Given the description of an element on the screen output the (x, y) to click on. 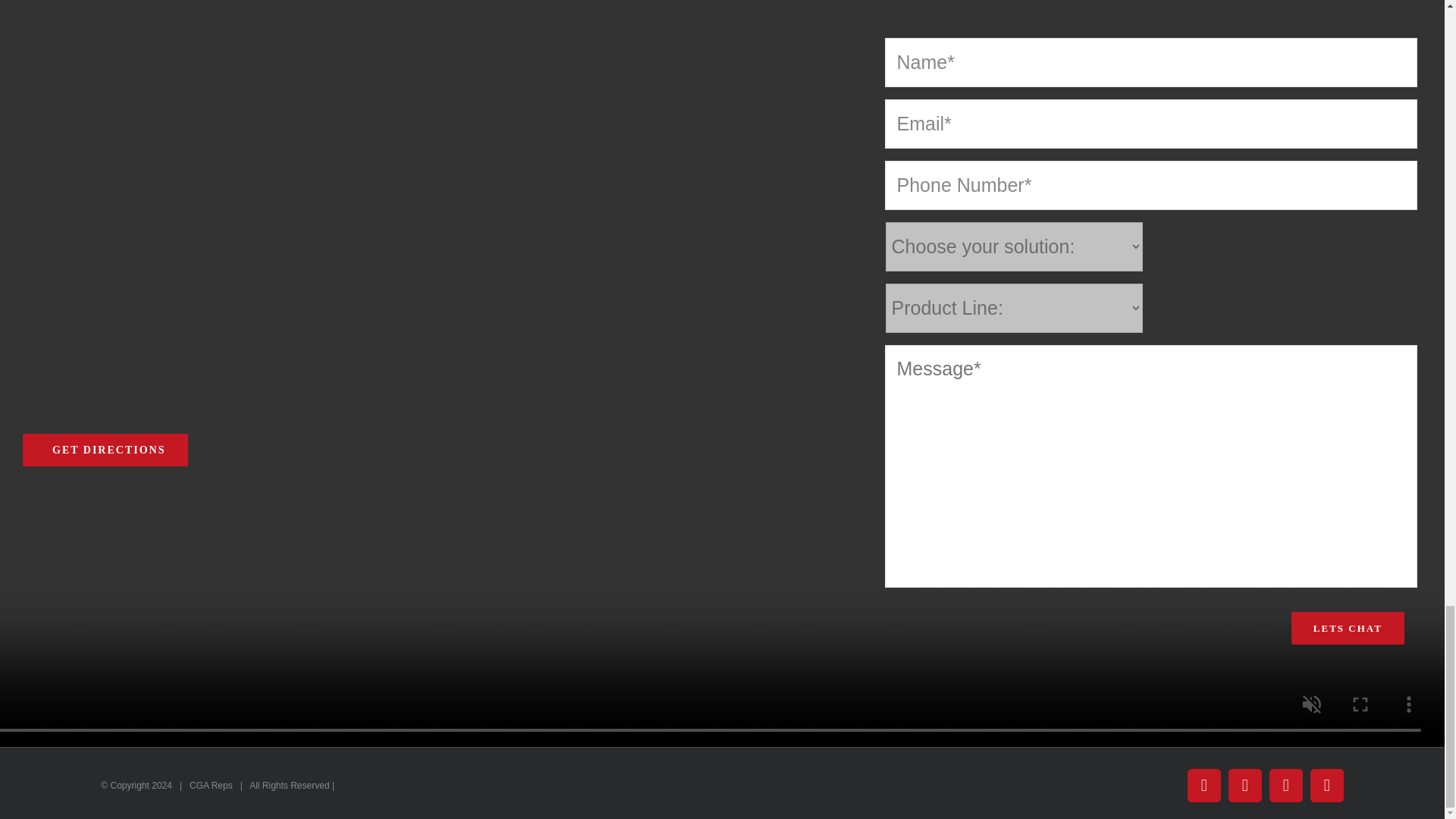
LinkedIn (1326, 785)
Twitter (1245, 785)
LETS CHAT (1348, 627)
Instagram (1286, 785)
Facebook (1204, 785)
